Given the description of an element on the screen output the (x, y) to click on. 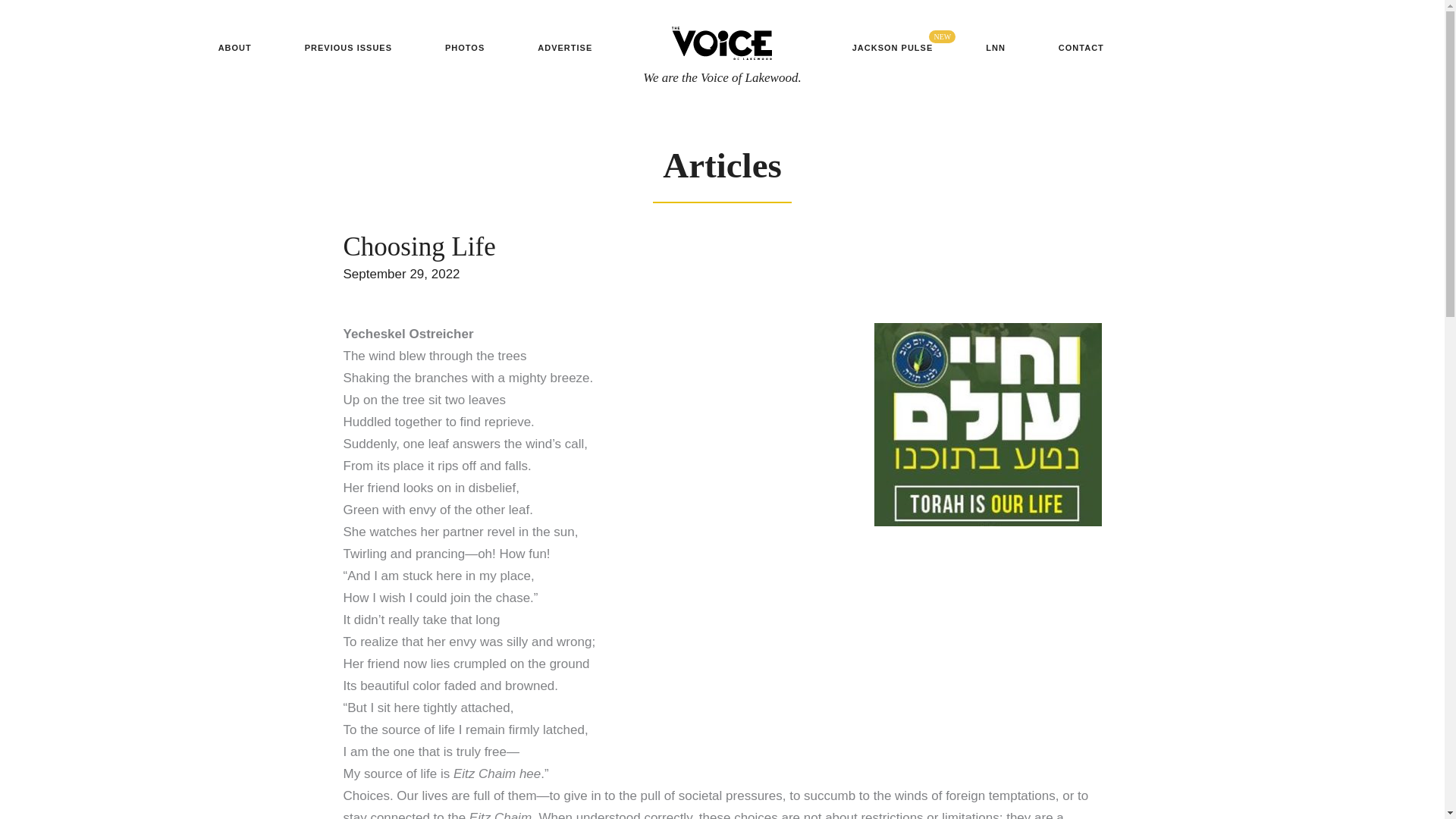
ABOUT (235, 48)
logo-black (721, 42)
CONTACT (1080, 48)
ADVERTISE (564, 48)
Chat (1406, 779)
LNN (994, 48)
JACKSON PULSE (892, 48)
PREVIOUS ISSUES (348, 48)
PHOTOS (464, 48)
